Given the description of an element on the screen output the (x, y) to click on. 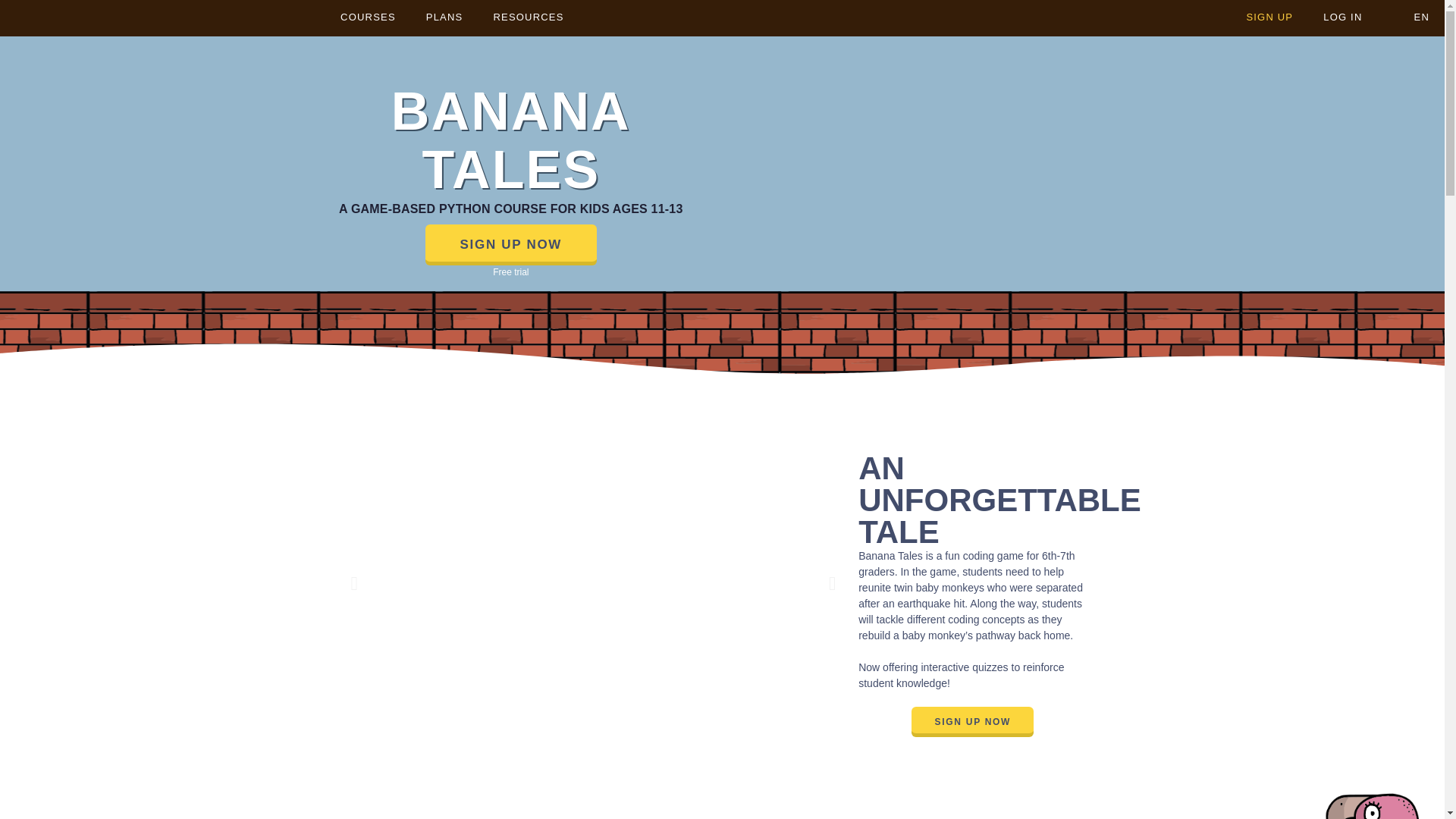
RESOURCES (527, 18)
COURSES (367, 18)
PLANS (444, 18)
English (1403, 16)
